Given the description of an element on the screen output the (x, y) to click on. 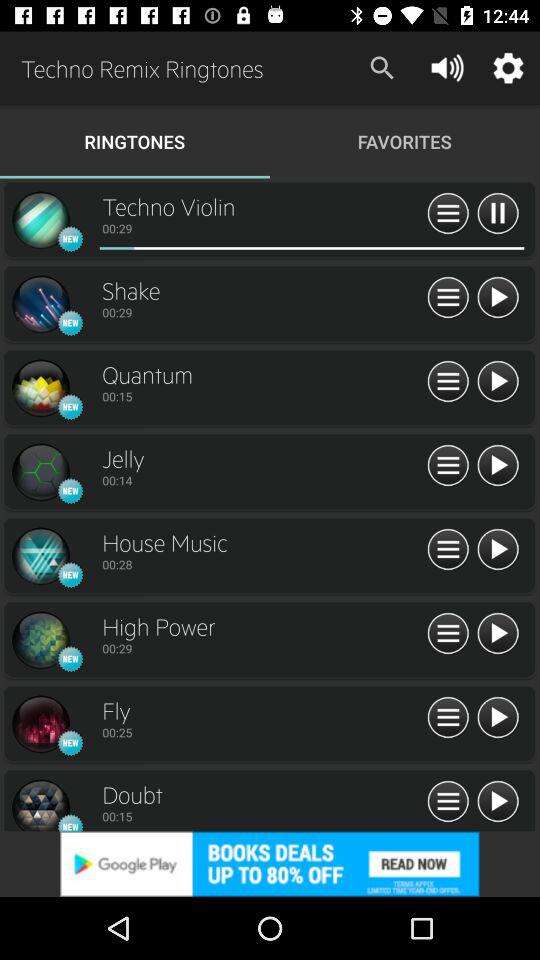
go to music (447, 465)
